Given the description of an element on the screen output the (x, y) to click on. 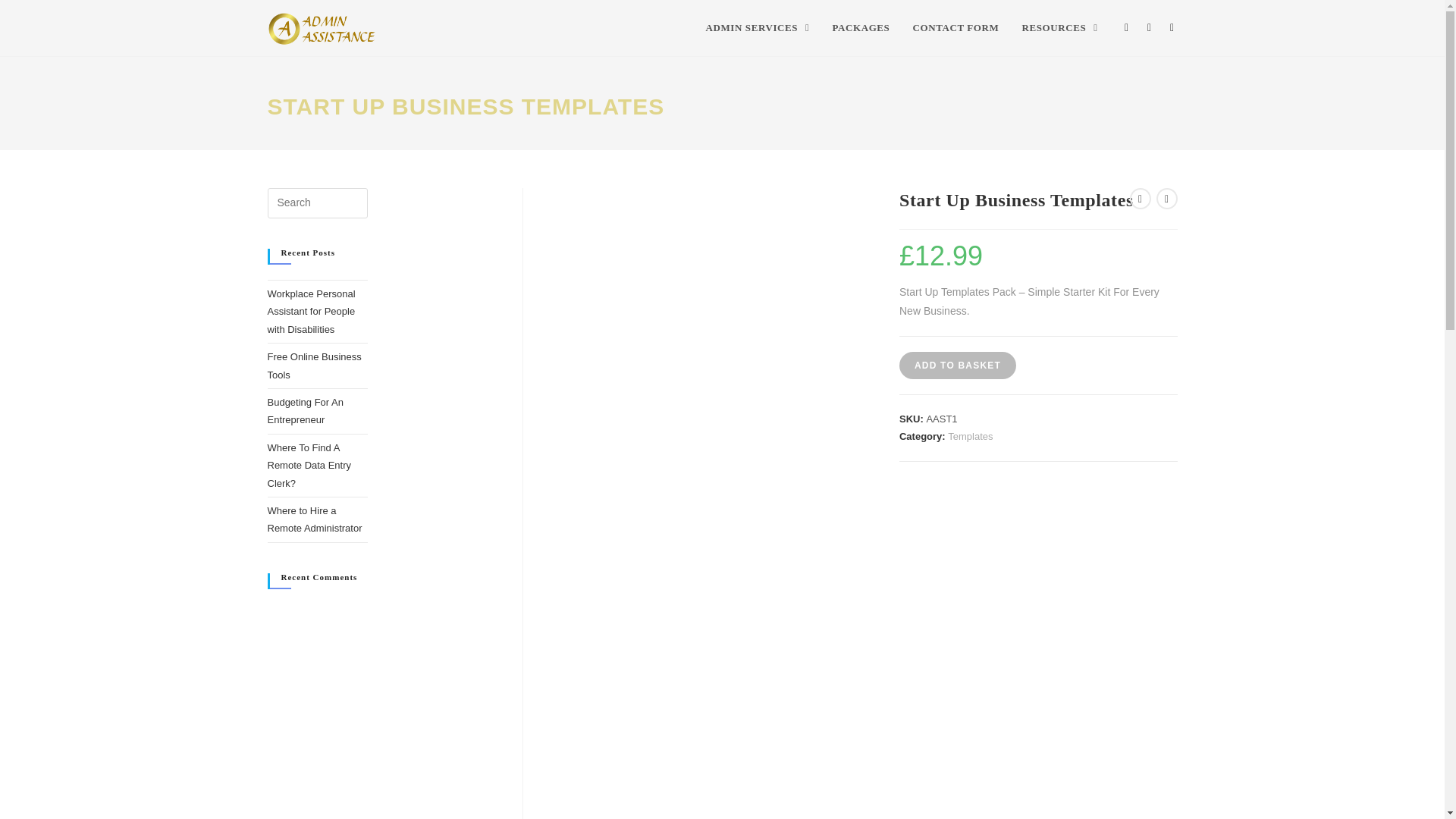
CONTACT FORM (955, 28)
PACKAGES (861, 28)
RESOURCES (1059, 28)
ADMIN SERVICES (757, 28)
